Given the description of an element on the screen output the (x, y) to click on. 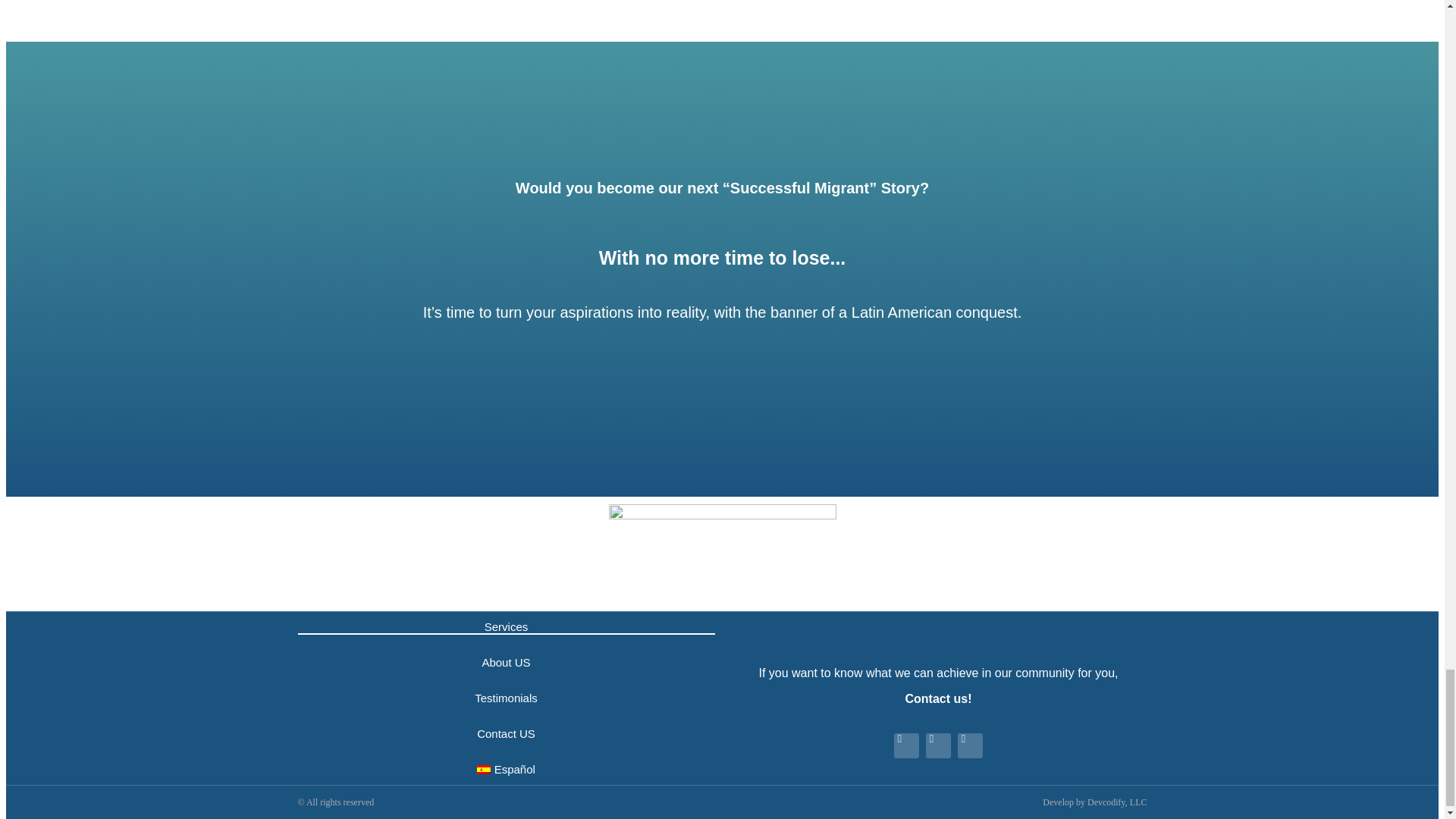
Testimonials (505, 698)
Contact US (505, 734)
About US (505, 662)
Services (505, 626)
